Given the description of an element on the screen output the (x, y) to click on. 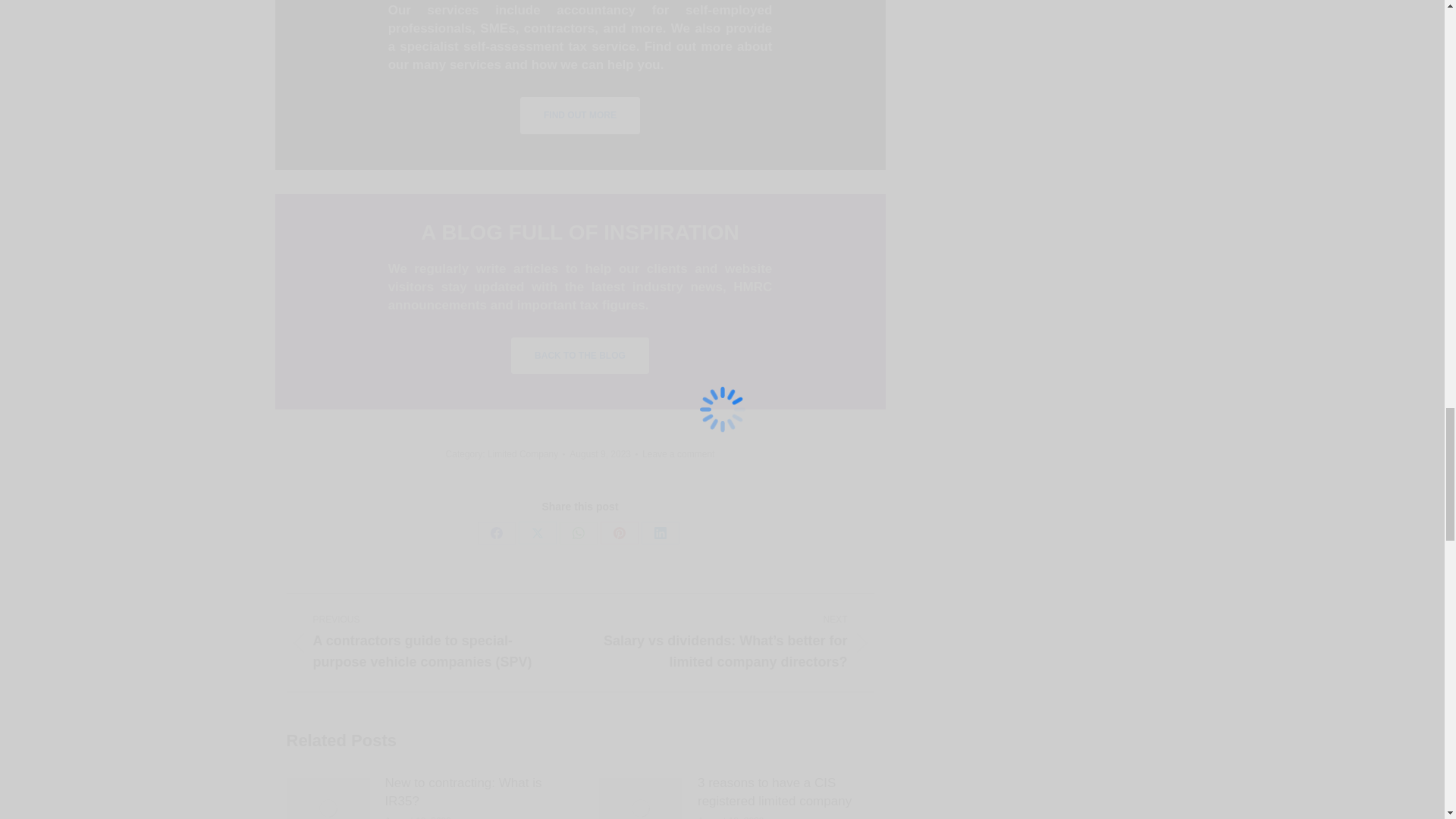
Facebook (496, 532)
Pinterest (619, 532)
X (537, 532)
LinkedIn (660, 532)
WhatsApp (577, 532)
11:10 am (603, 454)
